Given the description of an element on the screen output the (x, y) to click on. 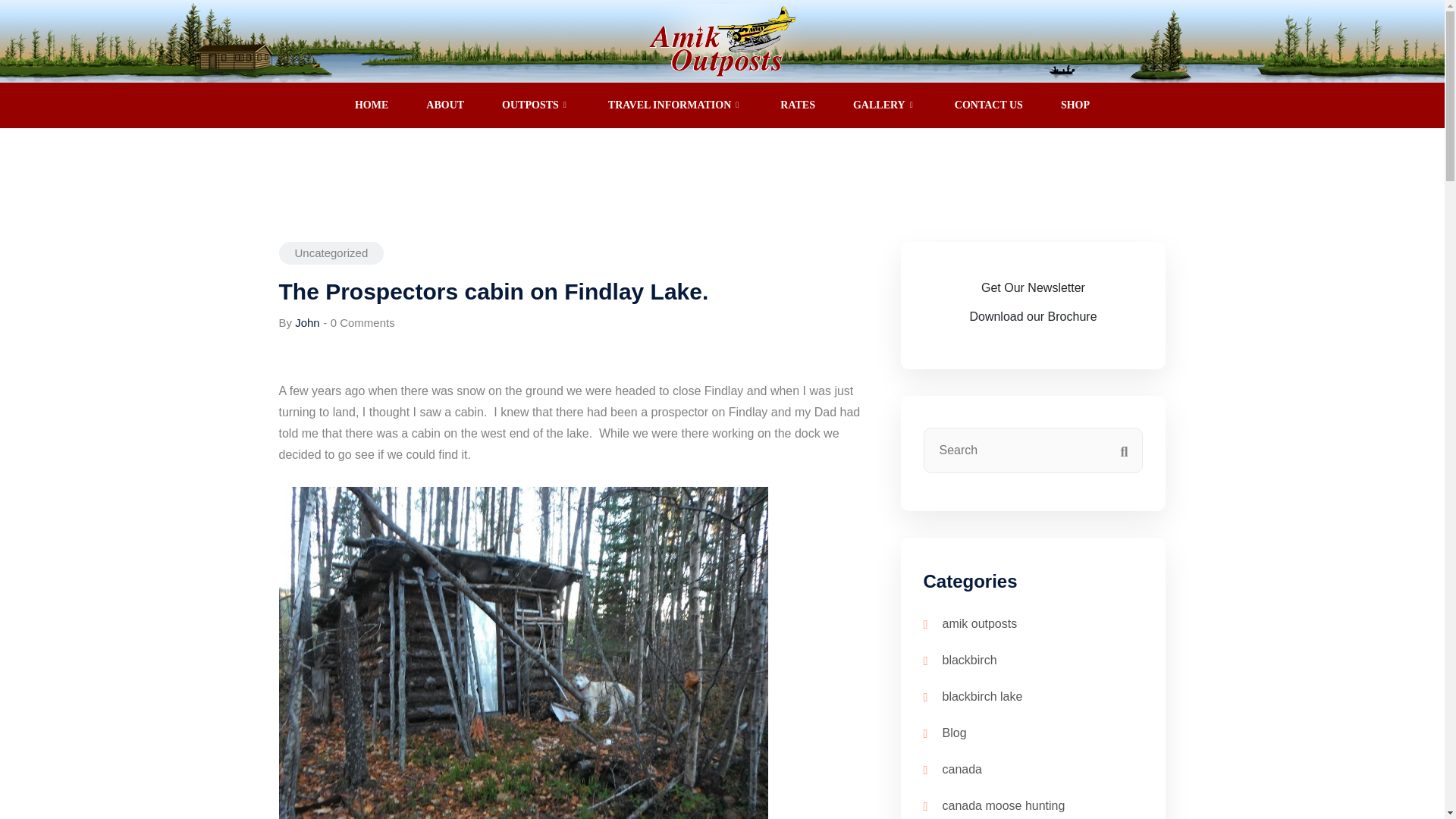
HOME (371, 104)
ABOUT (445, 104)
OUTPOSTS (536, 104)
TRAVEL INFORMATION (675, 104)
